Given the description of an element on the screen output the (x, y) to click on. 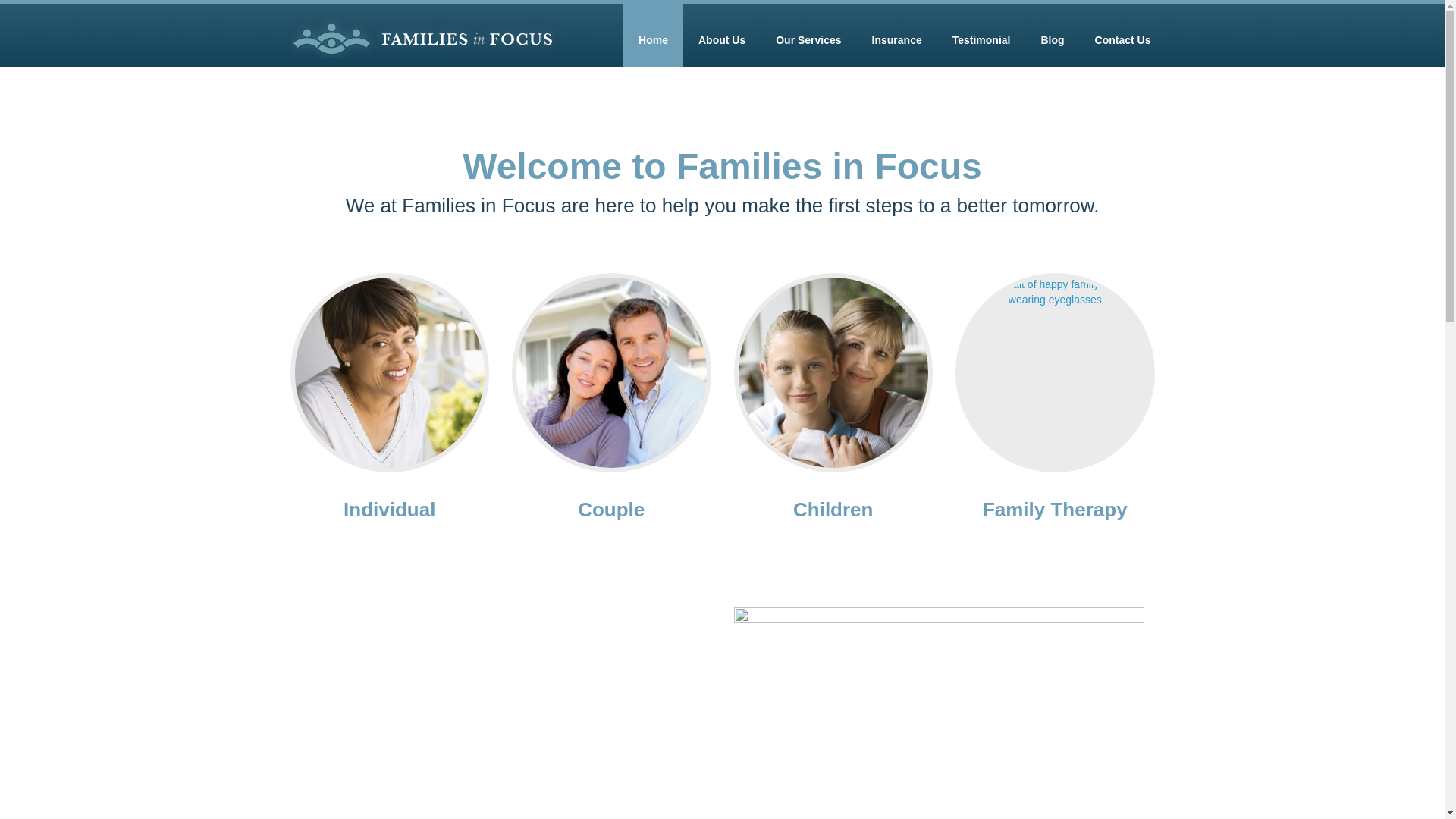
Portrait of happy family of four wearing eyeglasses (1054, 372)
couple (611, 372)
Testimonial (981, 35)
Our Services (808, 35)
Family Therapy (1054, 508)
Children (832, 508)
About Us (721, 35)
Home (652, 35)
Individual (389, 508)
Insurance (897, 35)
